Given the description of an element on the screen output the (x, y) to click on. 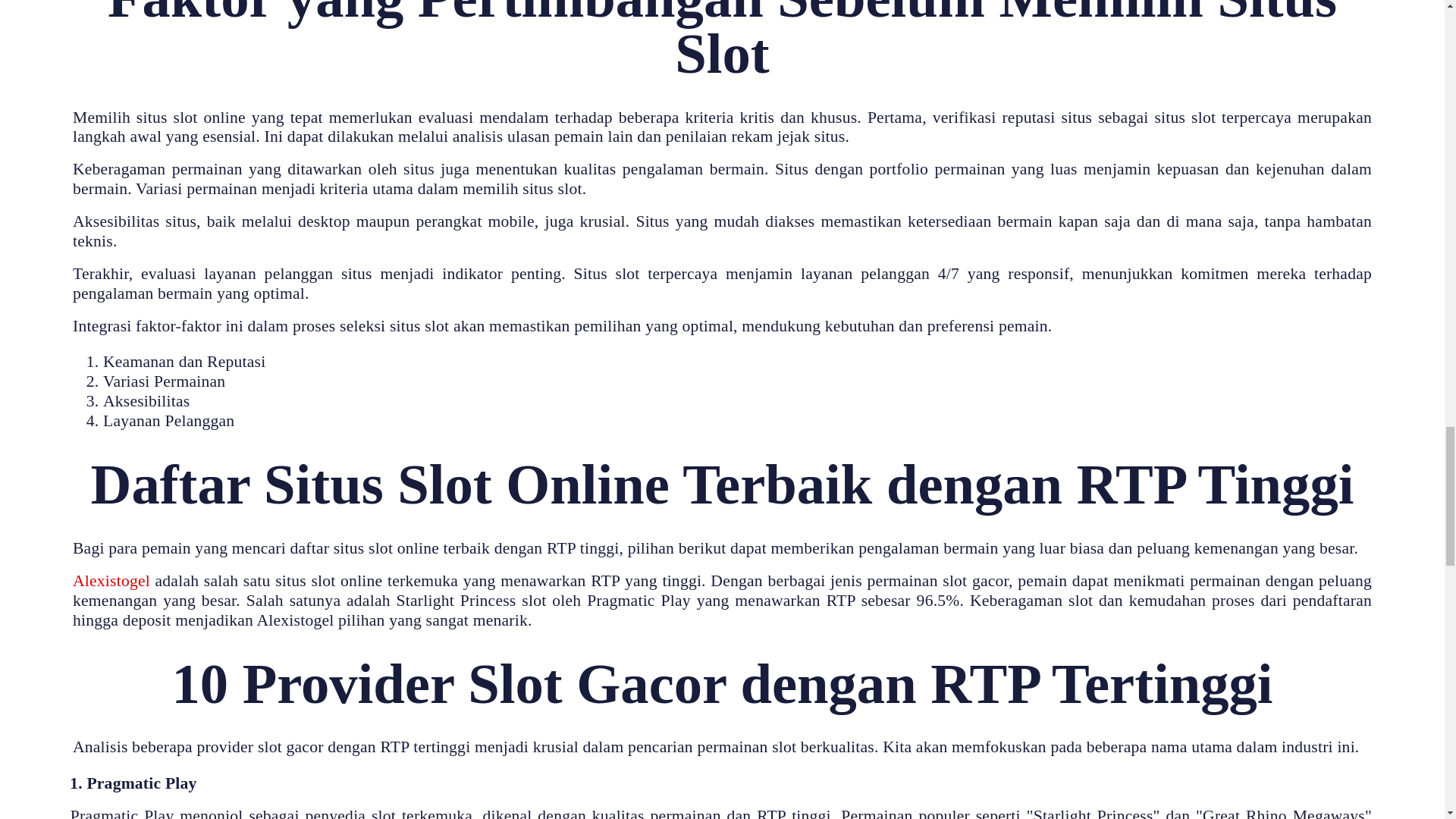
Alexistogel (110, 580)
